Given the description of an element on the screen output the (x, y) to click on. 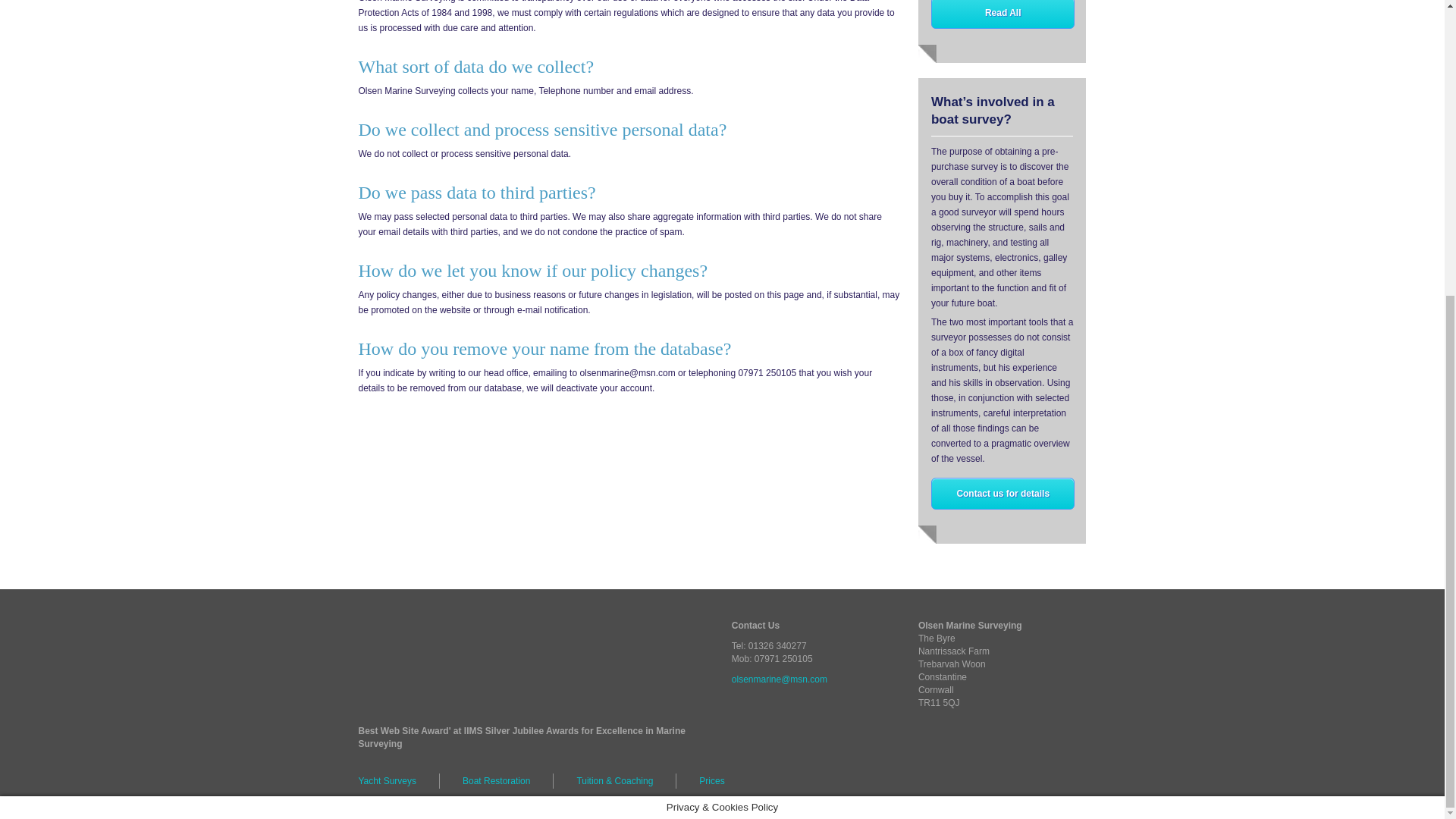
Contact us for details (1003, 493)
Boat Restoration (496, 780)
Read All (1003, 14)
Prices (711, 780)
Yacht Surveys (398, 780)
